Given the description of an element on the screen output the (x, y) to click on. 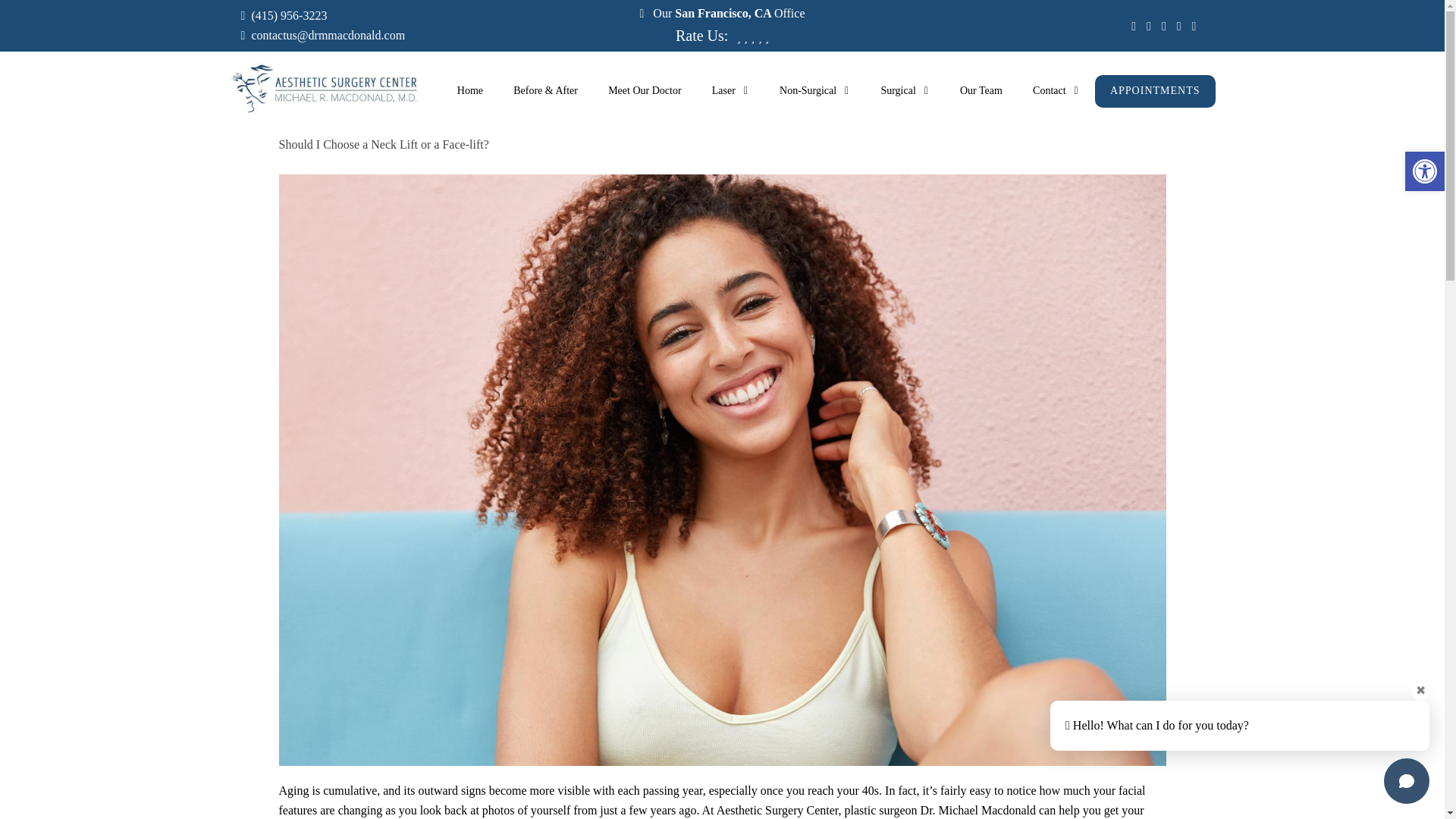
Our San Francisco, CA Office (727, 12)
Meet Our Doctor (643, 90)
Home (469, 90)
Non-Surgical (814, 90)
Laser (730, 90)
Accessibility Tools (1424, 170)
